Given the description of an element on the screen output the (x, y) to click on. 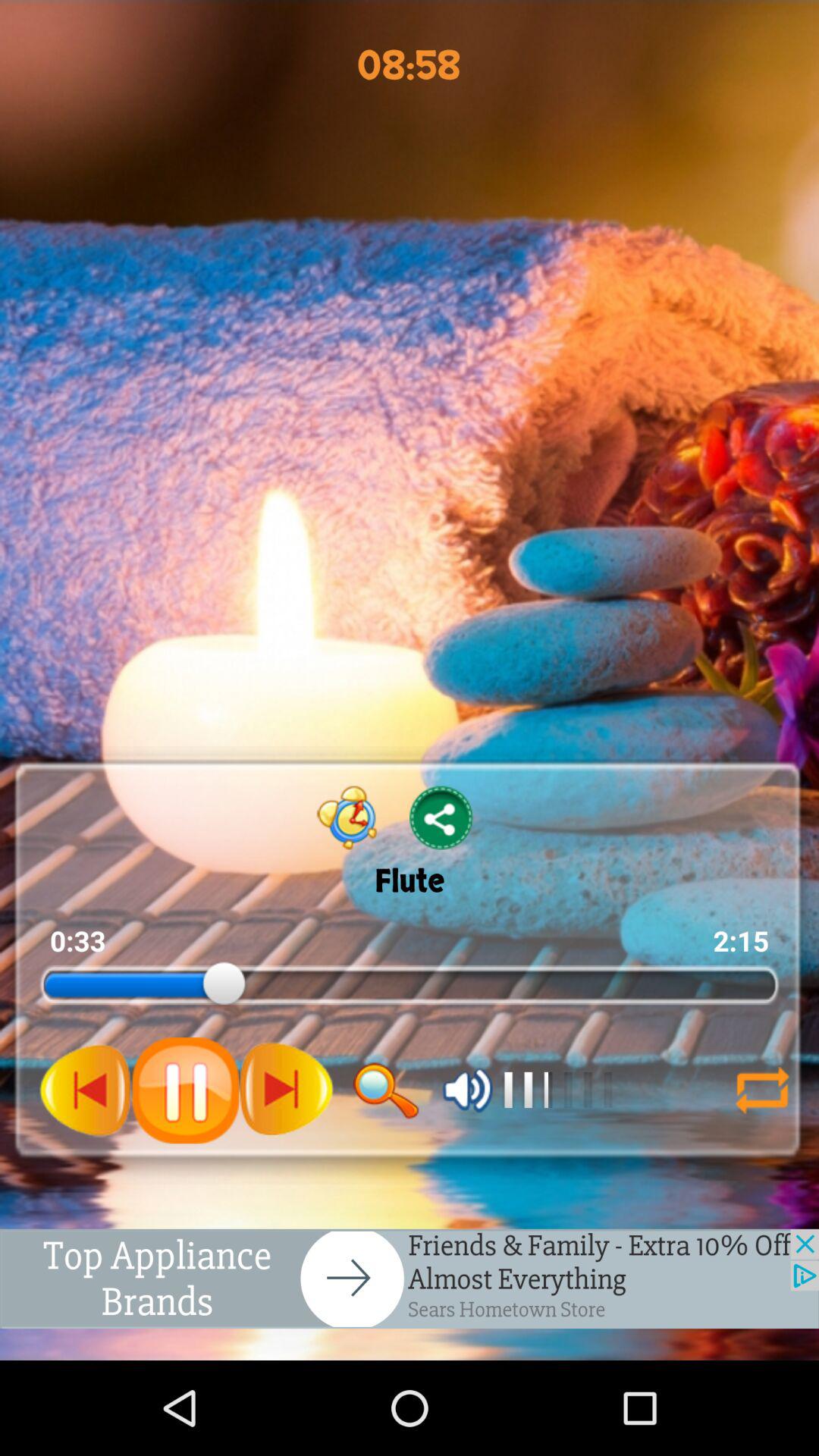
advertisement option (409, 1278)
